Given the description of an element on the screen output the (x, y) to click on. 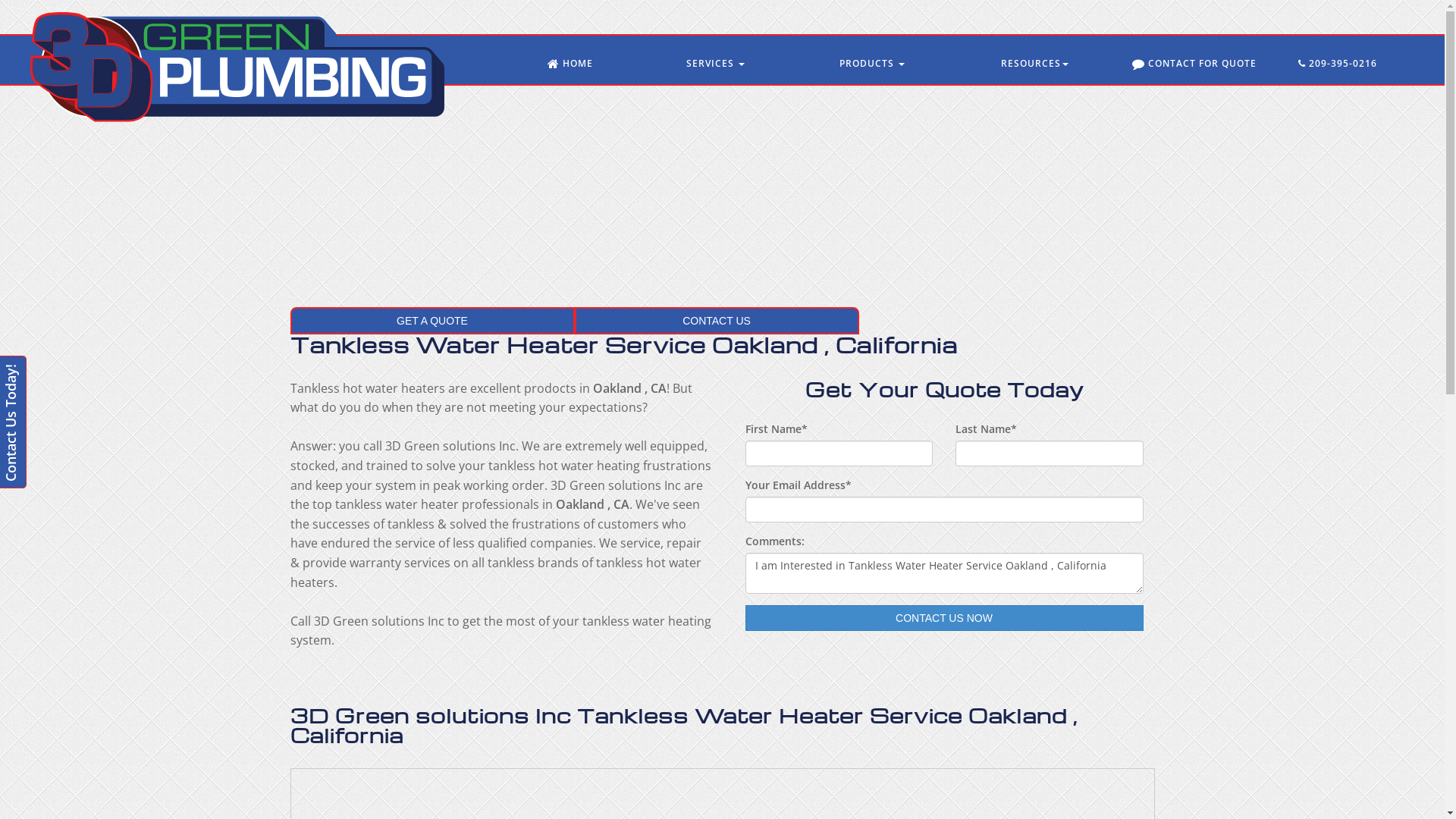
HOME Element type: text (570, 63)
SERVICES Element type: text (714, 63)
CONTACT US NOW Element type: text (943, 617)
CONTACT US Element type: text (716, 320)
CONTACT FOR QUOTE Element type: text (1193, 63)
GET A QUOTE Element type: text (431, 320)
RESOURCES Element type: text (1034, 63)
PRODUCTS Element type: text (871, 63)
209-395-0216 Element type: text (1337, 63)
Contact Us Today! Element type: text (66, 368)
